Given the description of an element on the screen output the (x, y) to click on. 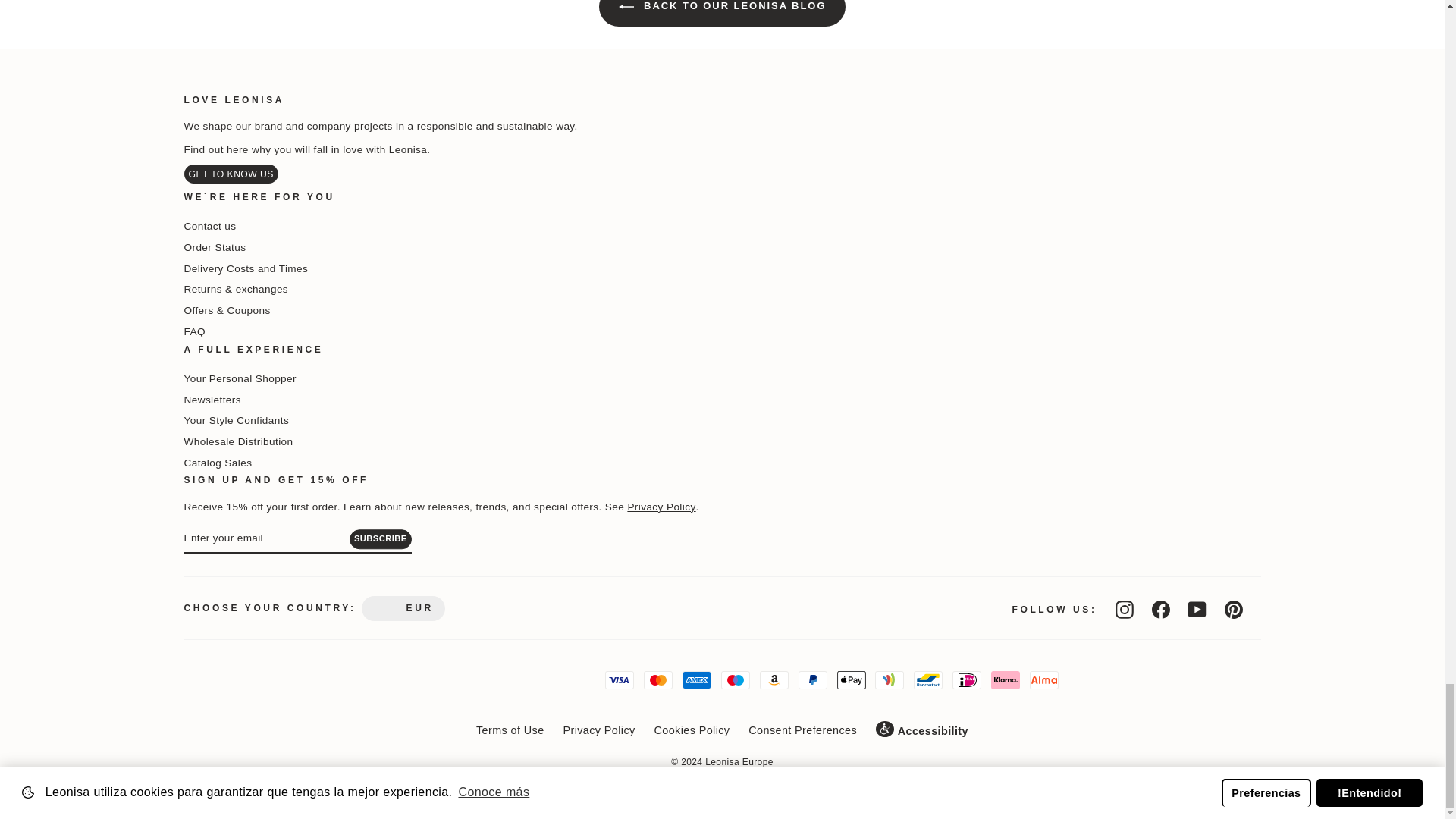
Leonisa Europe on Facebook (1160, 609)
Maestro (734, 679)
Leonisa Europe on Pinterest (1232, 609)
Leonisa Europe on YouTube (1196, 609)
American Express (696, 679)
Leonisa Europe on Instagram (1123, 609)
Amazon (774, 679)
Visa (619, 679)
Mastercard (657, 679)
PayPal (812, 679)
